Given the description of an element on the screen output the (x, y) to click on. 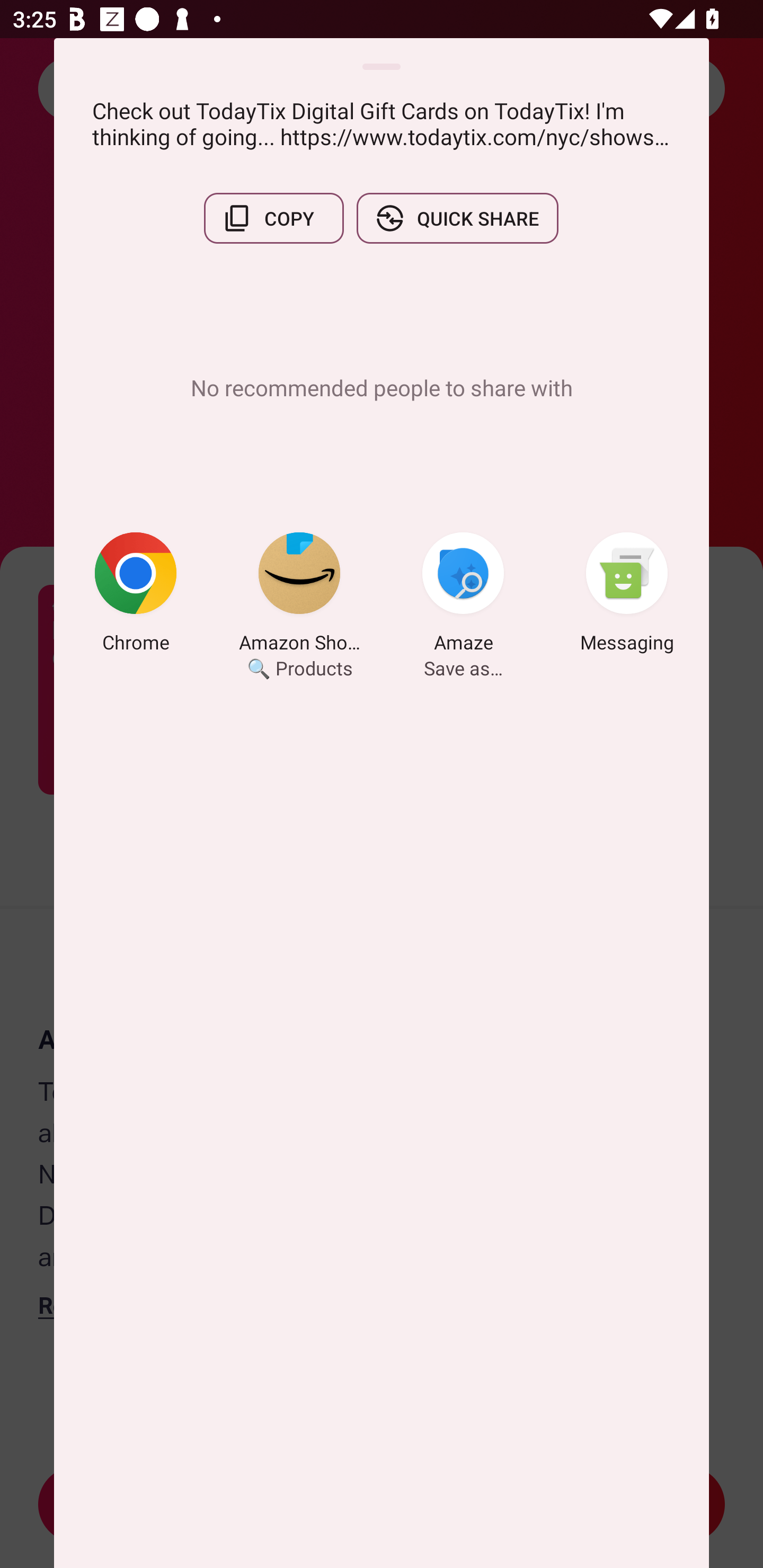
COPY (273, 218)
QUICK SHARE (457, 218)
Chrome (135, 594)
Amazon Shopping 🔍 Products (299, 594)
Amaze Save as… (463, 594)
Messaging (626, 594)
